Given the description of an element on the screen output the (x, y) to click on. 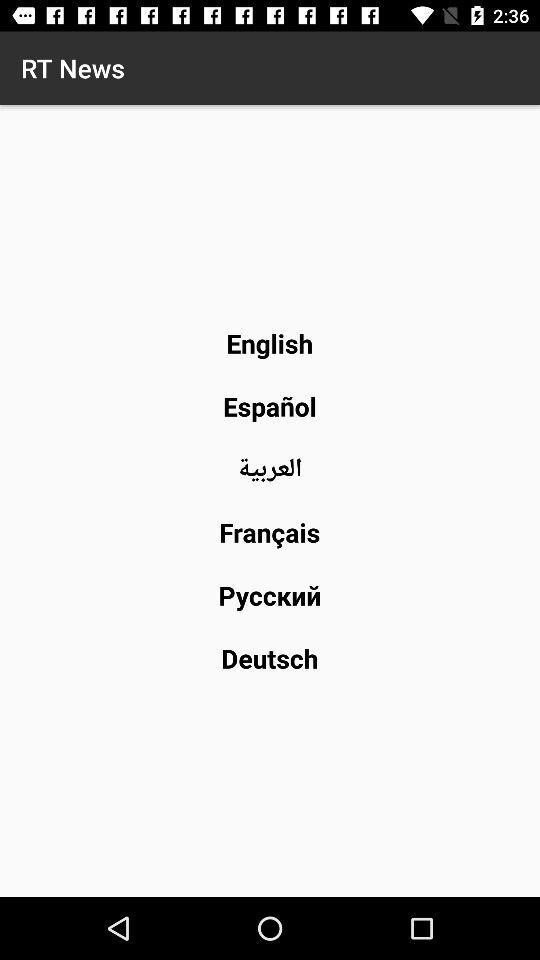
launch the icon above deutsch icon (269, 594)
